Given the description of an element on the screen output the (x, y) to click on. 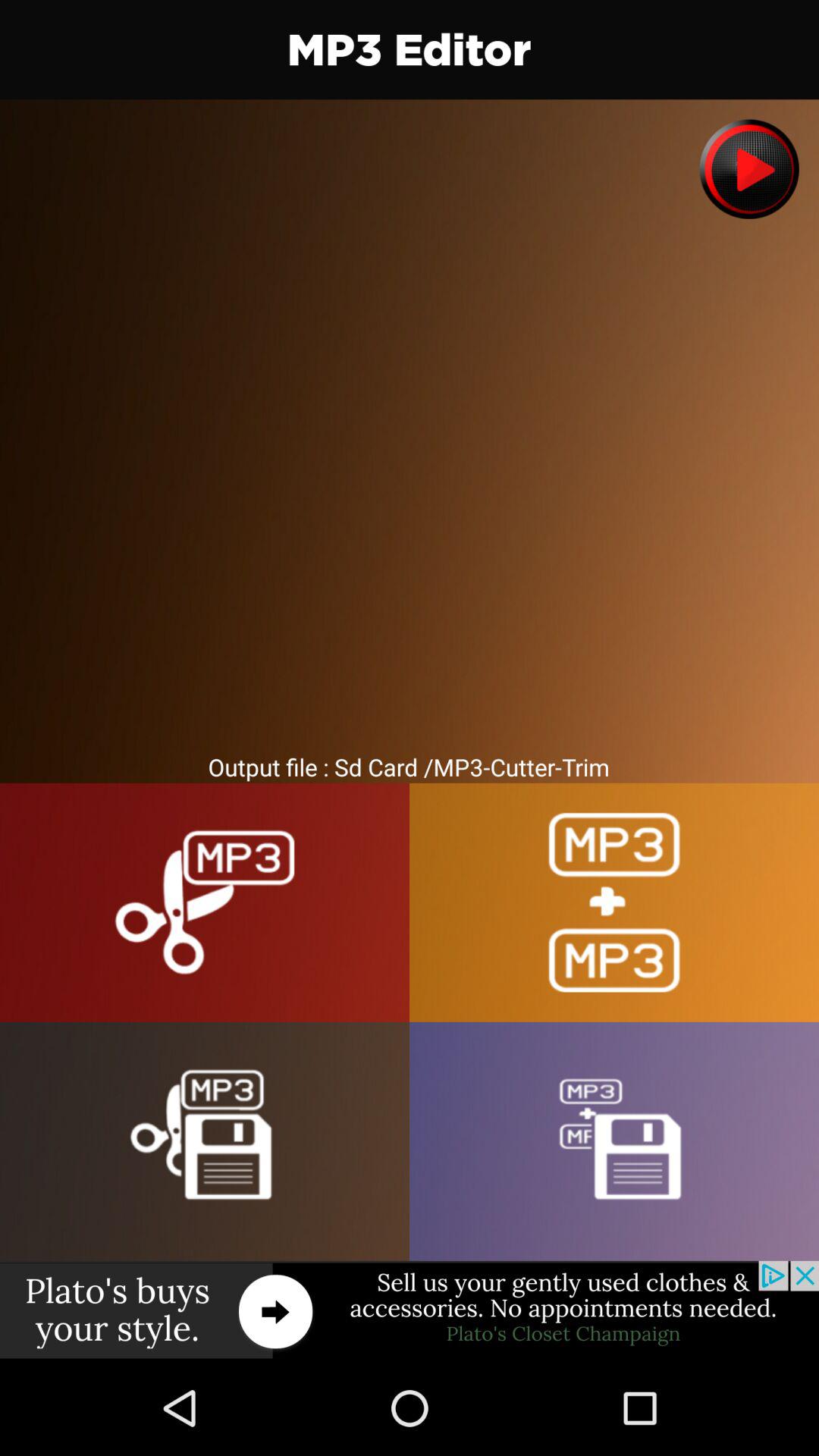
sd card cutter (204, 1141)
